Given the description of an element on the screen output the (x, y) to click on. 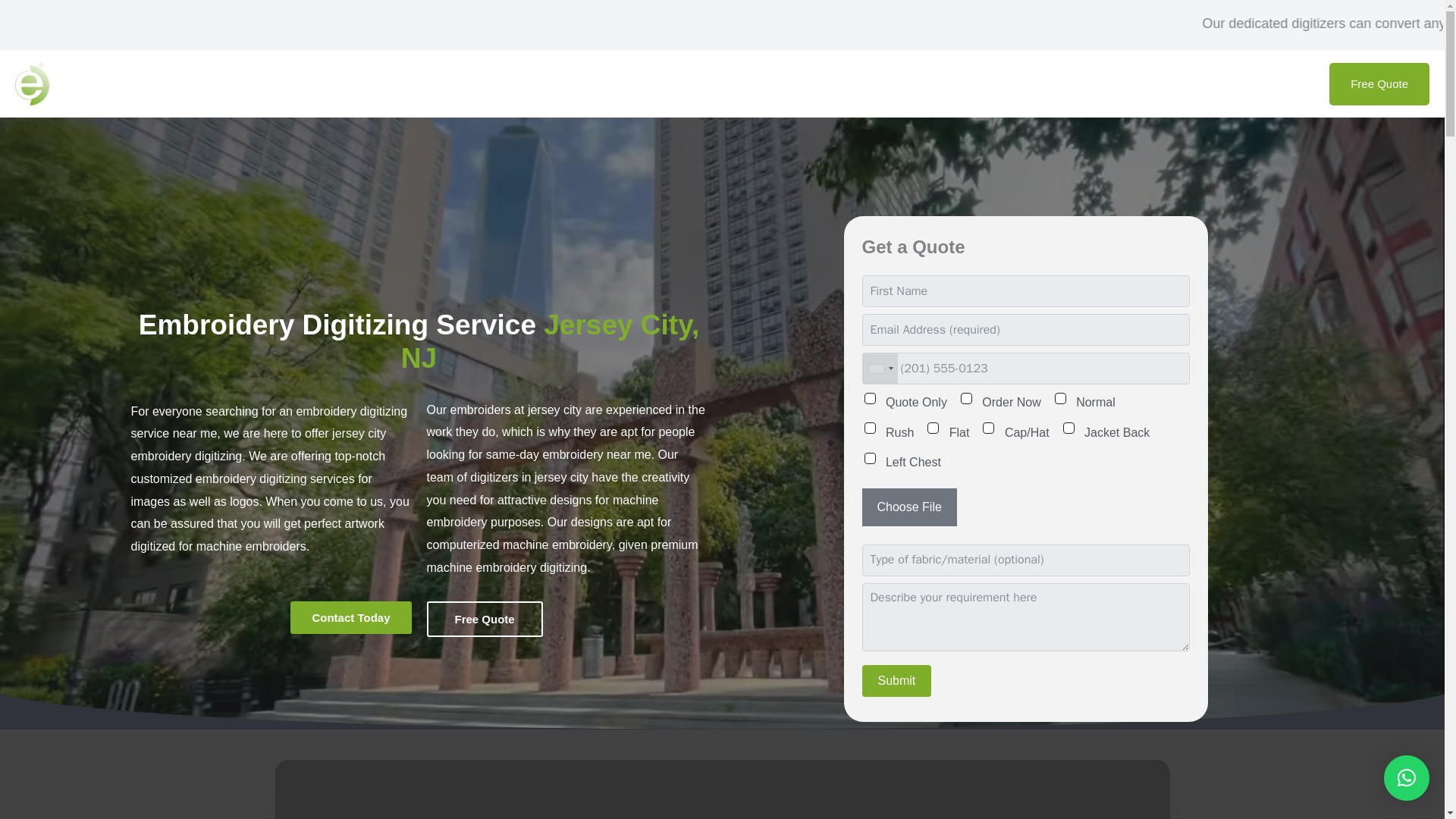
Home (1048, 83)
Services (1120, 83)
Location (1205, 83)
